Given the description of an element on the screen output the (x, y) to click on. 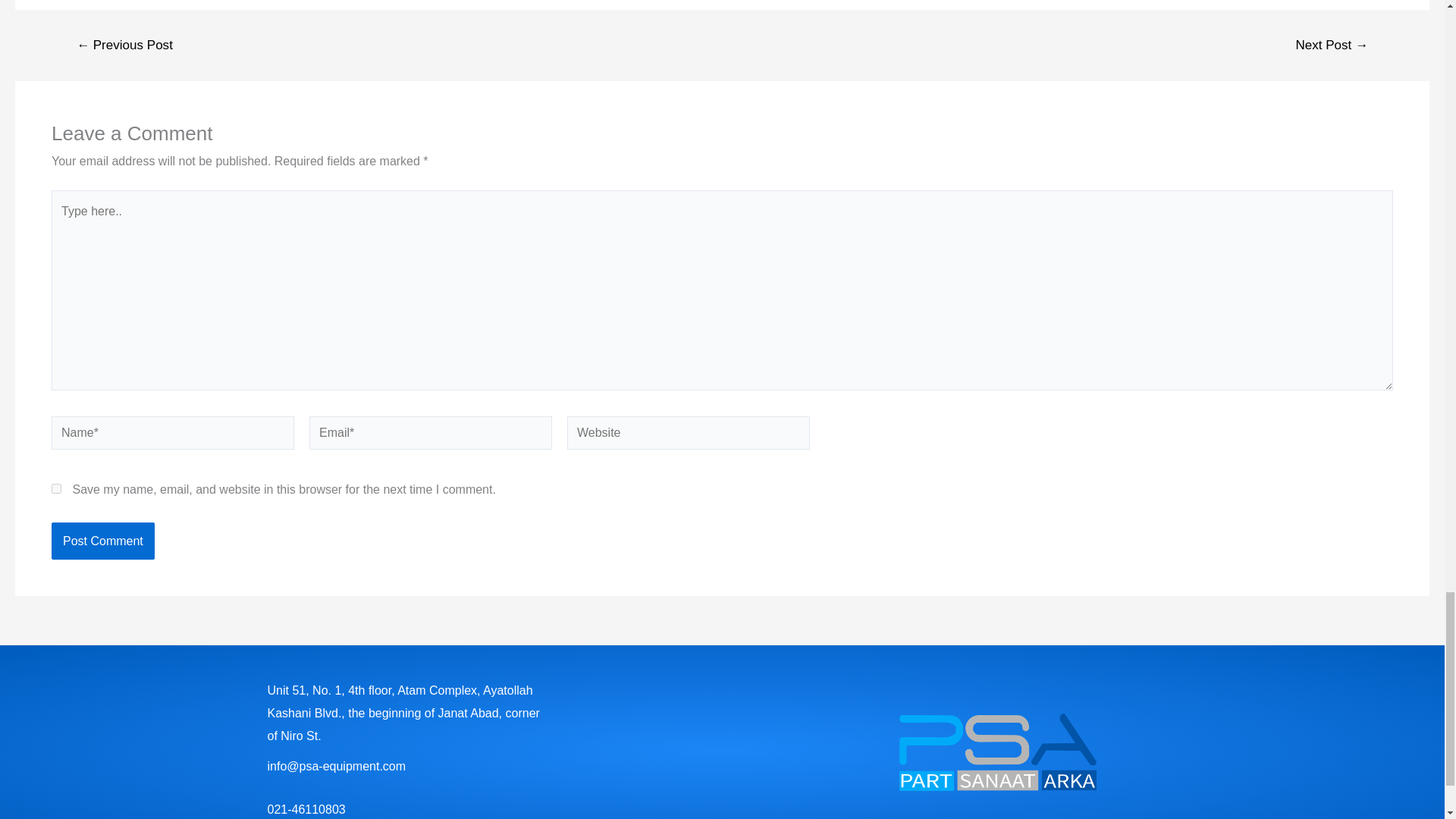
yes (55, 488)
Post Comment (102, 541)
Post Comment (102, 541)
